Given the description of an element on the screen output the (x, y) to click on. 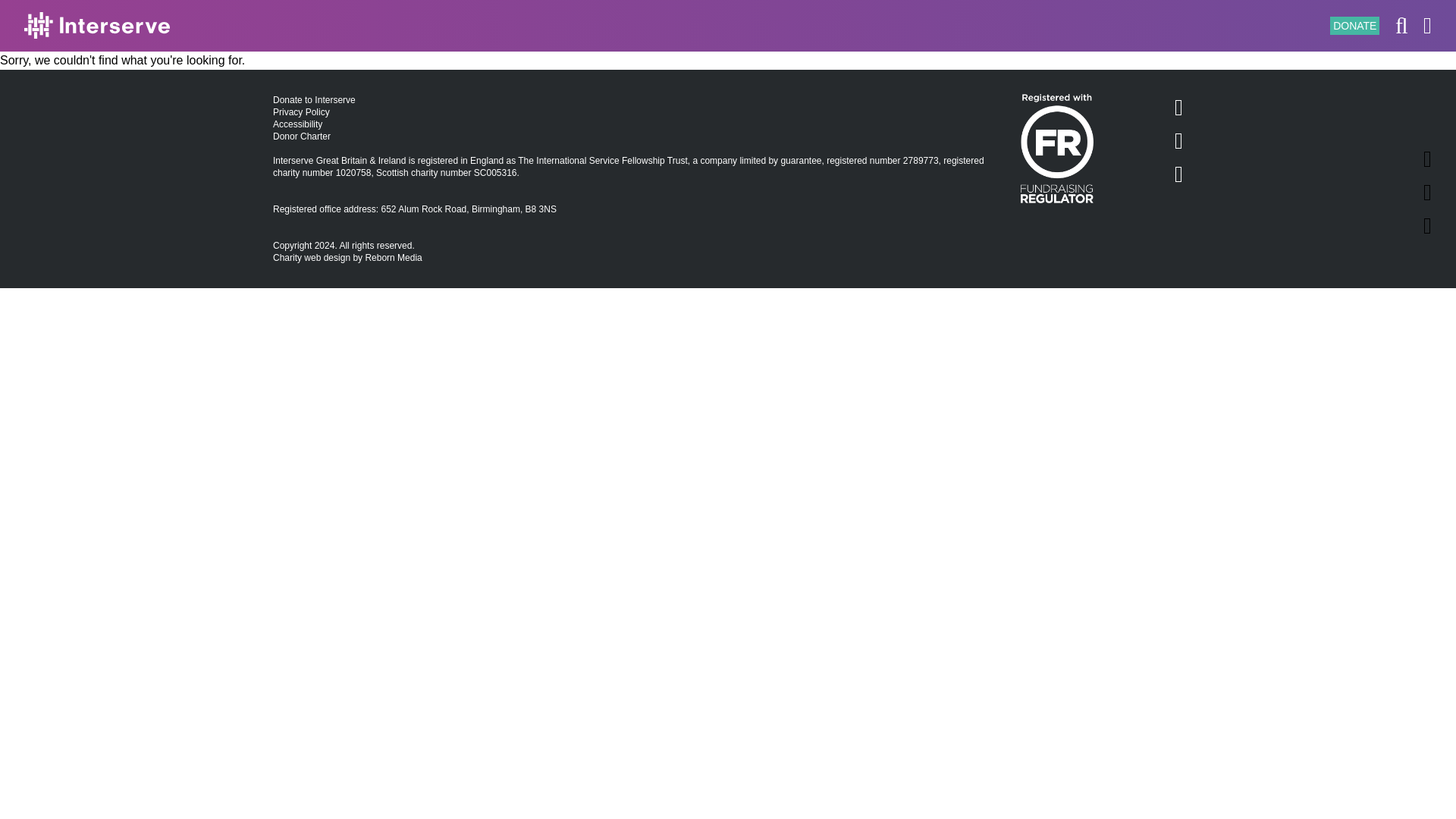
DONATE (1354, 25)
Accessibility (297, 123)
Donor Charter (301, 136)
Privacy Policy (301, 112)
Charity web design (311, 257)
Donate to Interserve (314, 100)
